Given the description of an element on the screen output the (x, y) to click on. 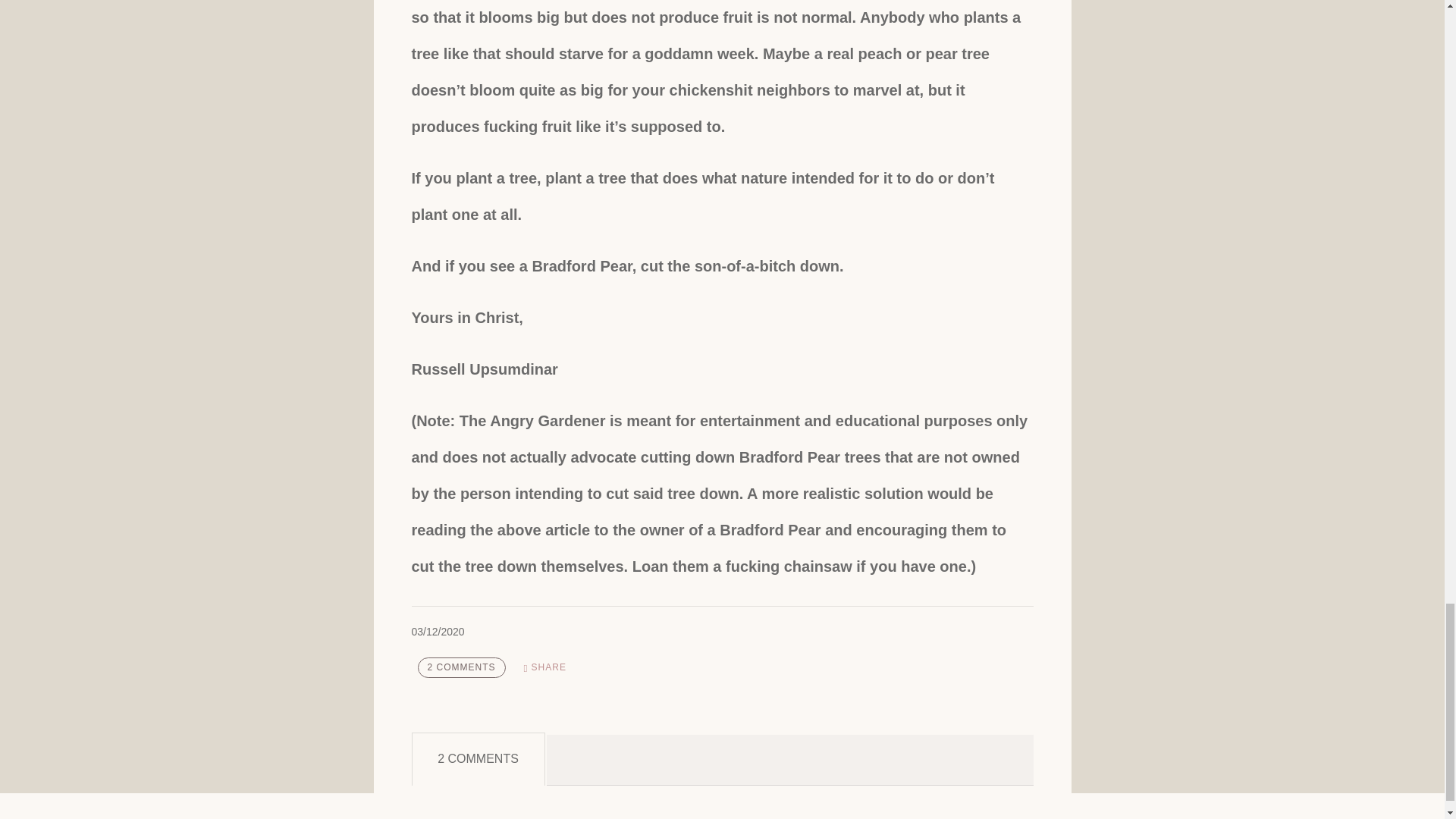
Share The Bradford Pear (544, 667)
March 12, 2020 21:59 (437, 631)
2 comments (460, 667)
2 COMMENTS (460, 667)
SHARE (544, 667)
